Given the description of an element on the screen output the (x, y) to click on. 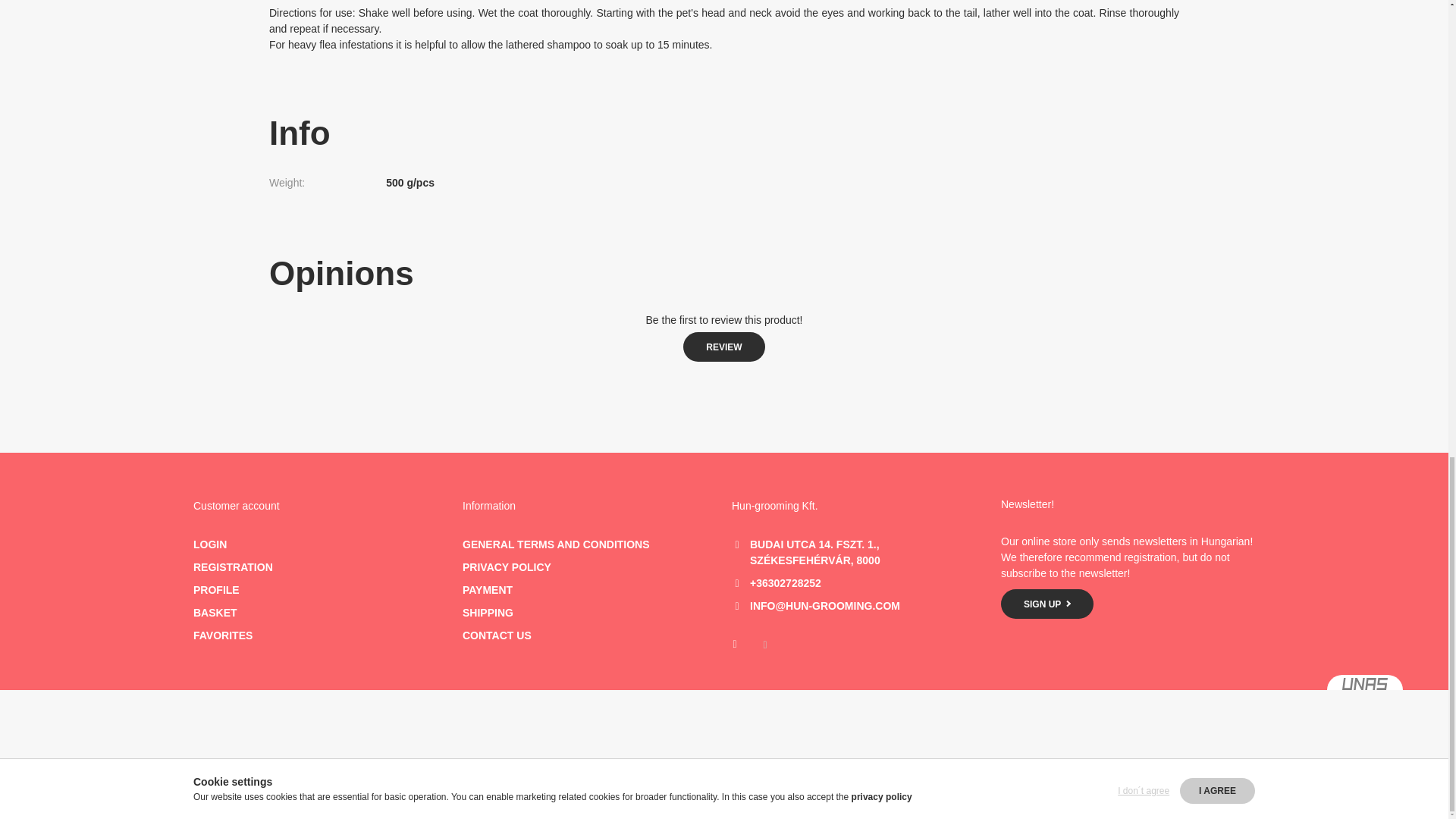
Cookie settings (764, 644)
WebShop System (1364, 689)
Facebook (734, 644)
WebShop System (1364, 683)
